Given the description of an element on the screen output the (x, y) to click on. 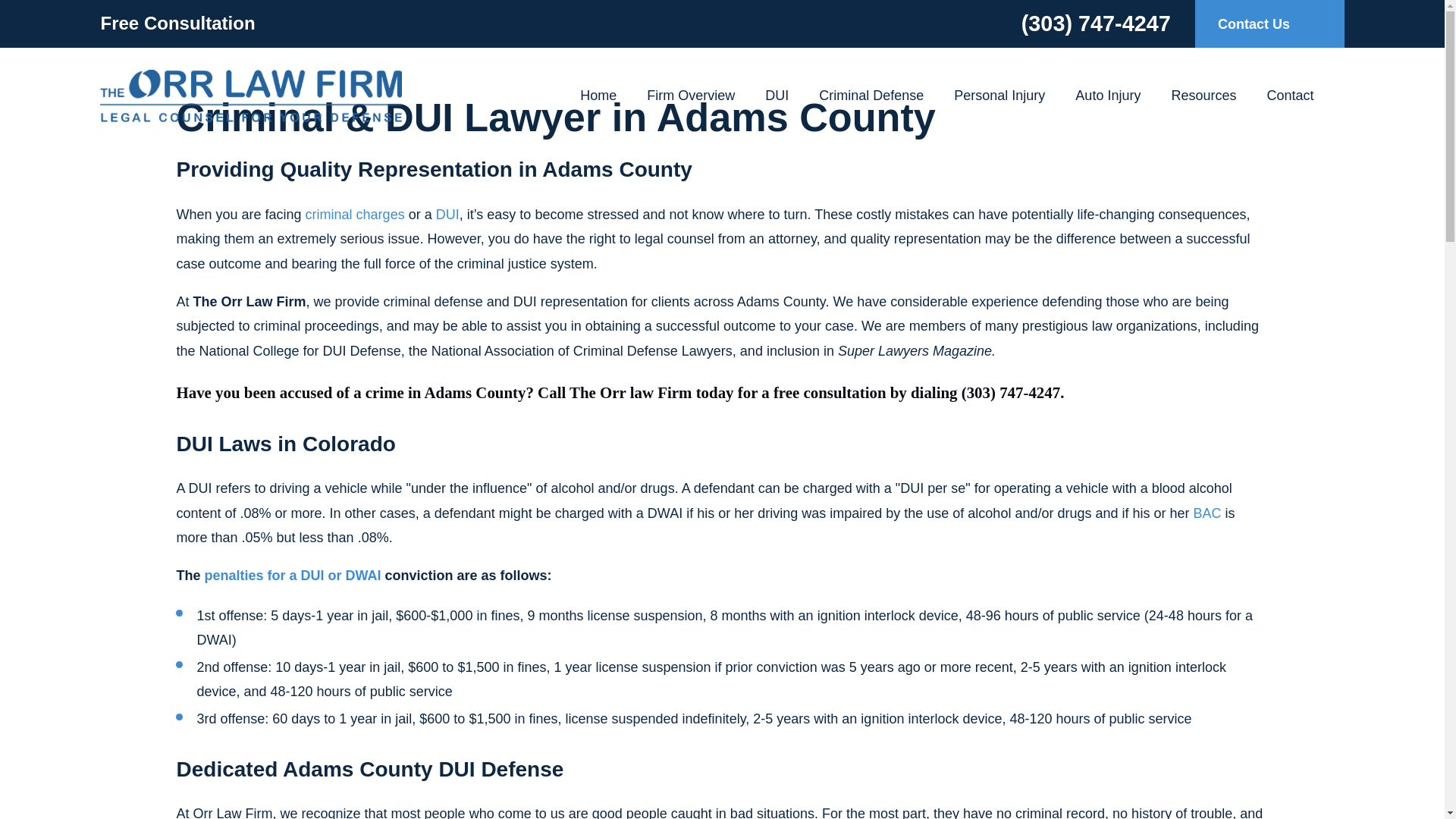
Firm Overview (690, 95)
Home (250, 95)
Criminal Defense (870, 95)
Contact Us (1269, 23)
